Given the description of an element on the screen output the (x, y) to click on. 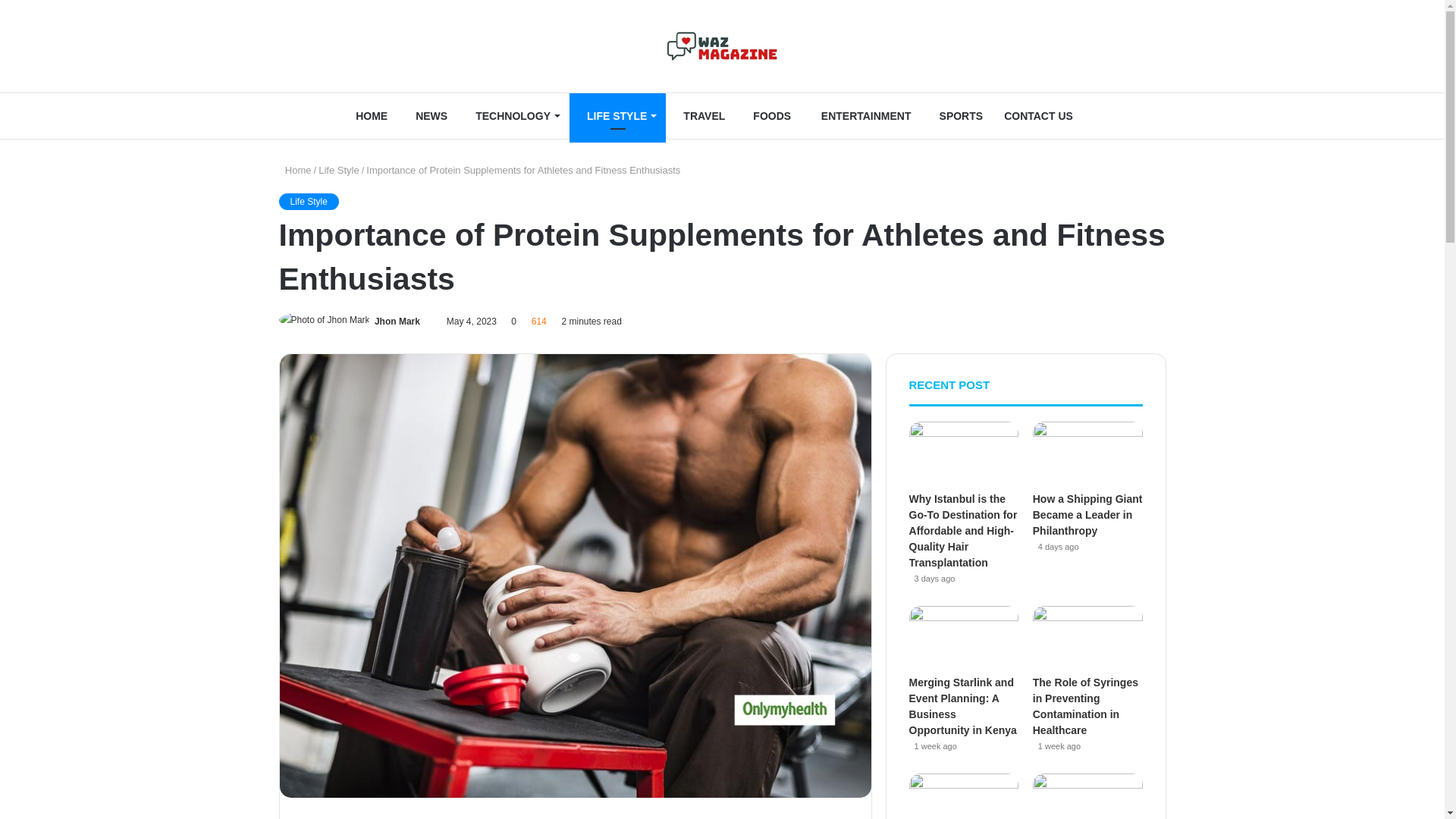
HOME (367, 115)
TECHNOLOGY (513, 115)
TRAVEL (700, 115)
LIFE STYLE (617, 115)
NEWS (427, 115)
WazMagazine.com (721, 46)
Life Style (309, 201)
ENTERTAINMENT (861, 115)
Life Style (338, 170)
Jhon Mark (397, 321)
